Given the description of an element on the screen output the (x, y) to click on. 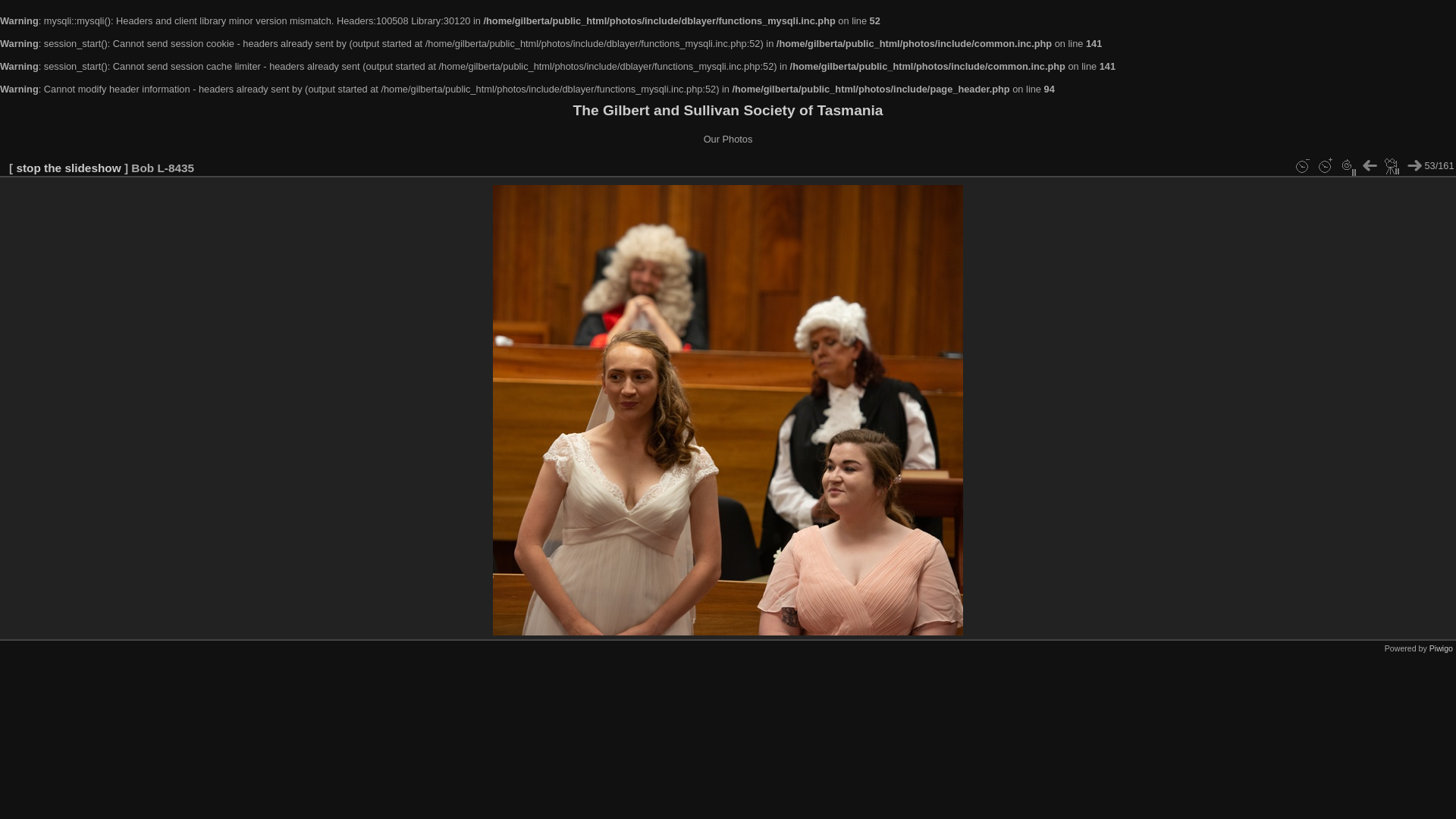
Do not repeat slideshow Element type: hover (1346, 165)
Piwigo Element type: text (1440, 647)
Bob L-8435 - Bob L-8435.jpg Element type: hover (727, 410)
stop the slideshow Element type: text (67, 167)
Previous : Bob L-8438 Element type: hover (1369, 165)
Reduce slideshow speed Element type: hover (1301, 165)
Increase slideshow speed Element type: hover (1324, 165)
Pause slideshow Element type: hover (1391, 165)
Next : Bob L-8433 Element type: hover (1414, 165)
